Given the description of an element on the screen output the (x, y) to click on. 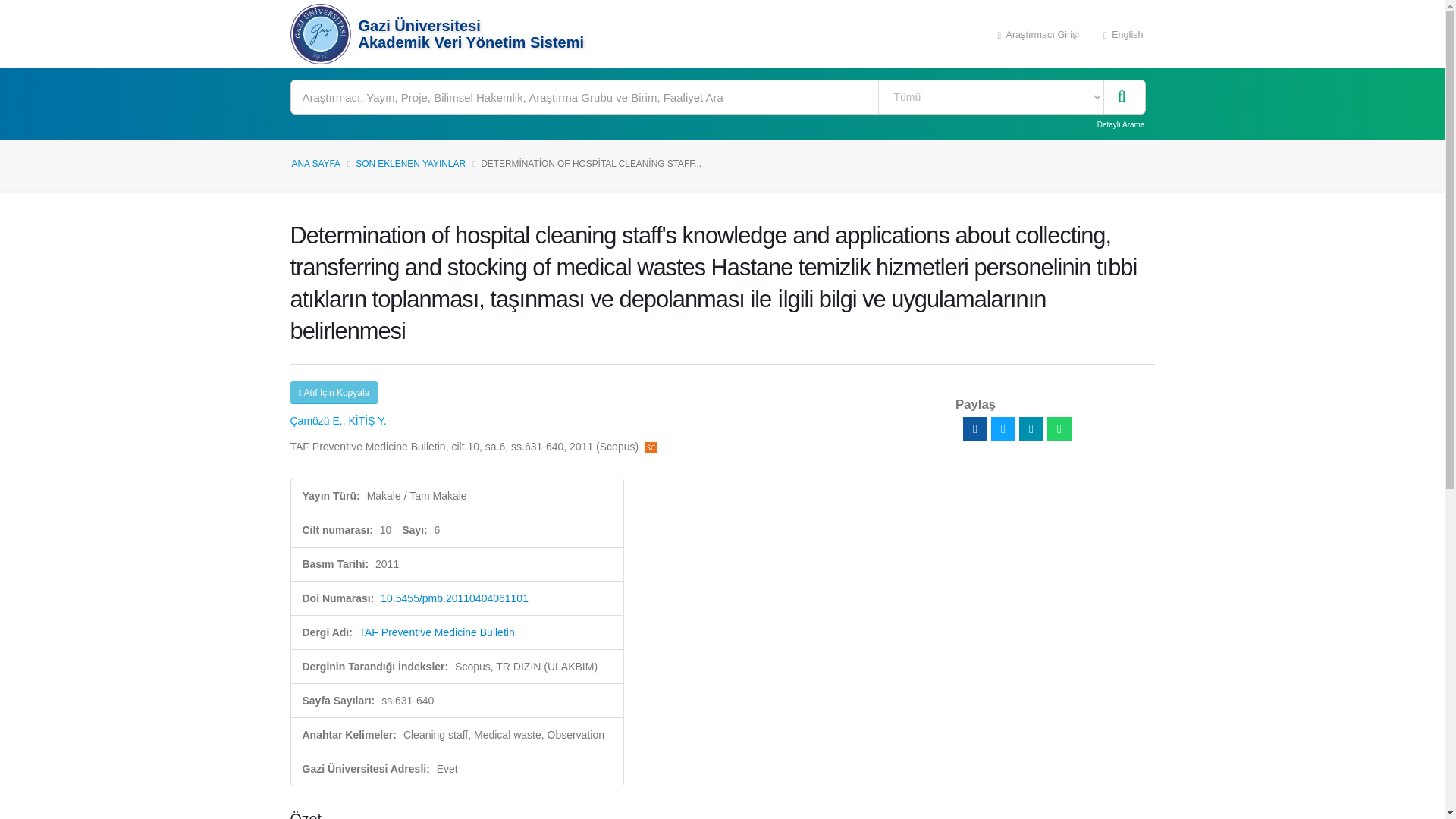
English (1123, 33)
SON EKLENEN YAYINLAR (410, 163)
ANA SAYFA (315, 163)
TAF Preventive Medicine Bulletin (437, 632)
